Given the description of an element on the screen output the (x, y) to click on. 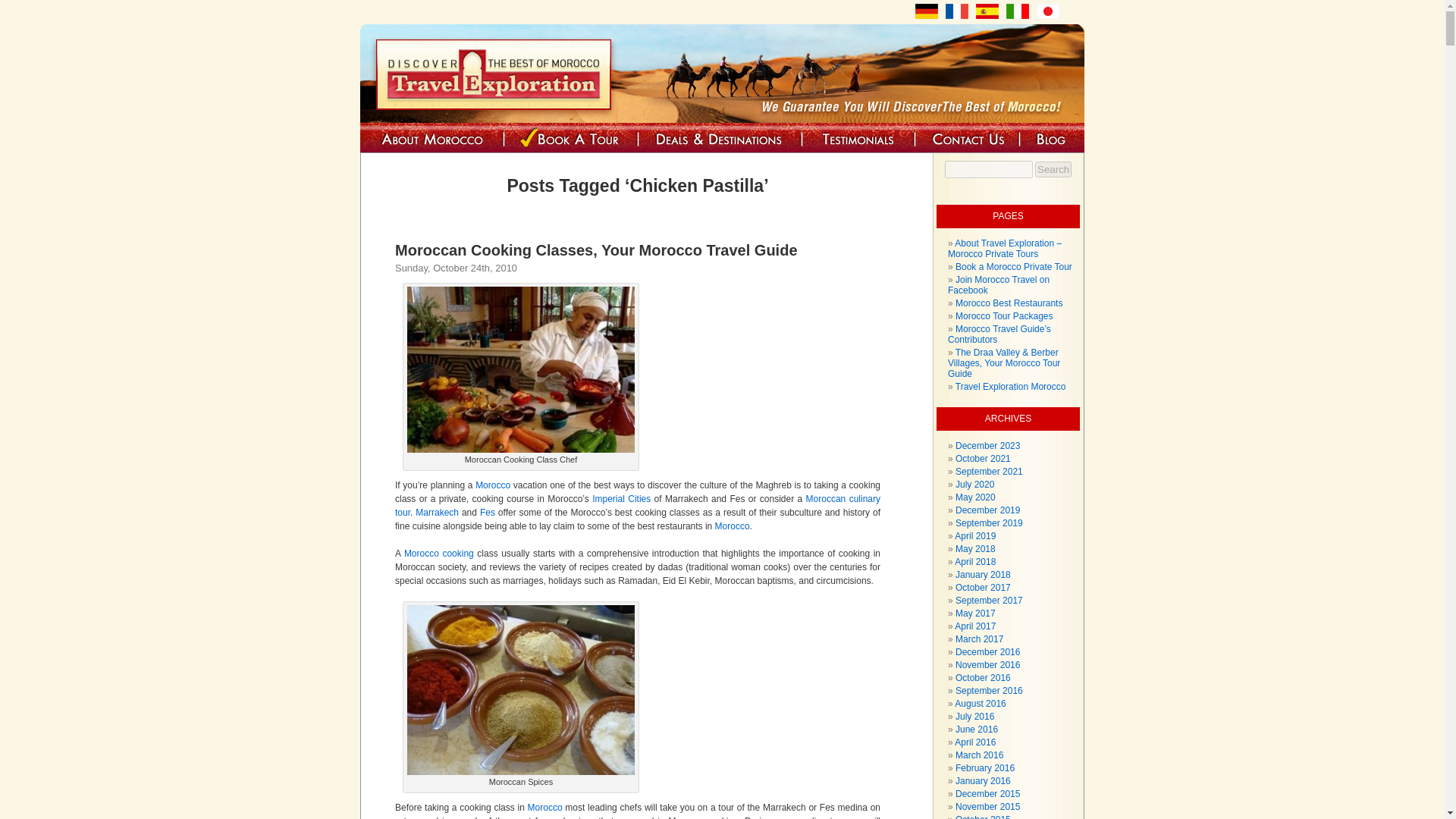
Morocco (493, 484)
Morocco cooking (439, 552)
Imperial Cities (622, 498)
Cooking-Class (520, 369)
Morocco (544, 807)
Spices-Cooking-Class (520, 689)
Marrakech (436, 511)
Fes (487, 511)
